Given the description of an element on the screen output the (x, y) to click on. 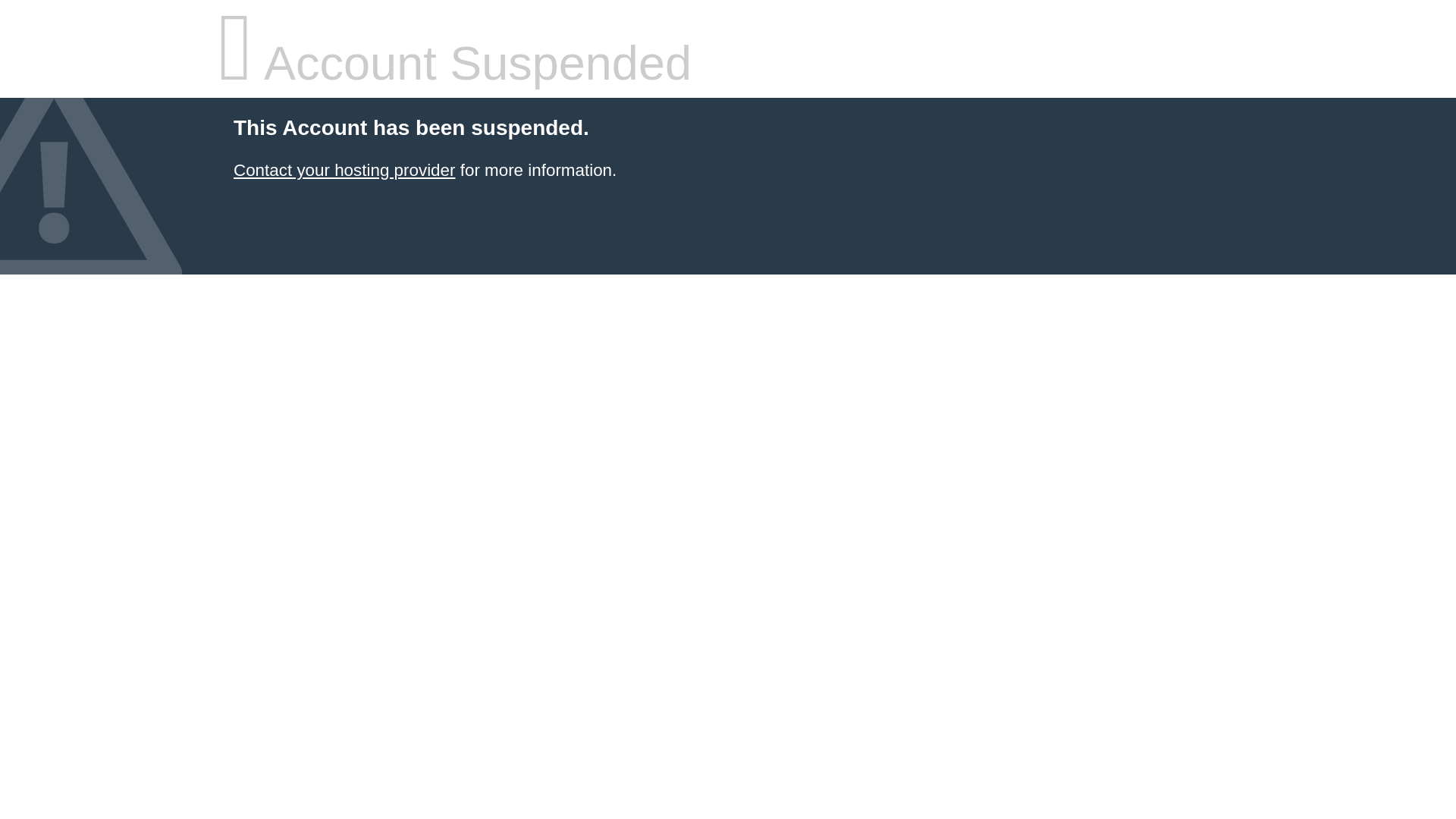
Contact your hosting provider (343, 169)
